Given the description of an element on the screen output the (x, y) to click on. 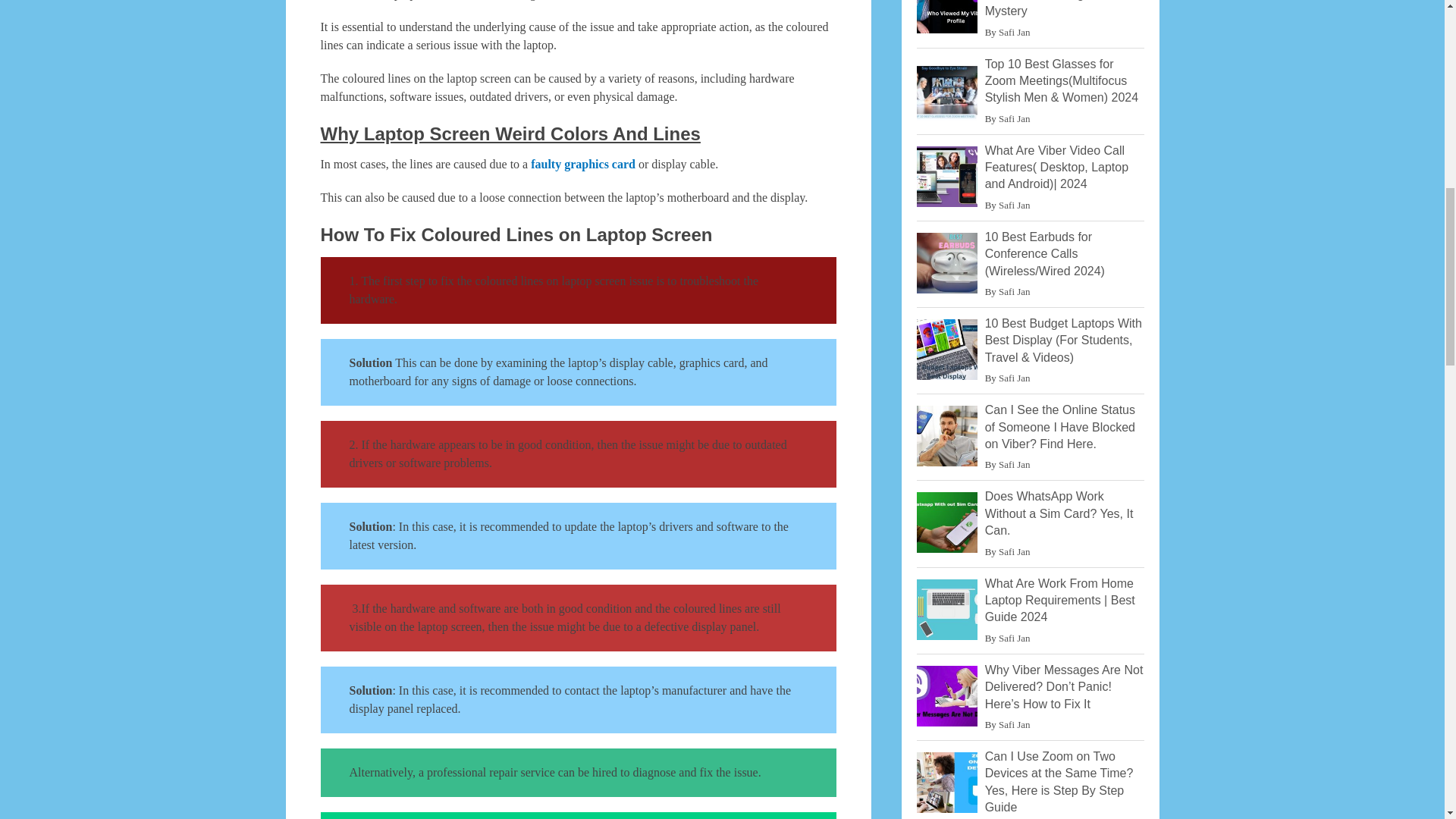
faulty graphics card (582, 164)
